Given the description of an element on the screen output the (x, y) to click on. 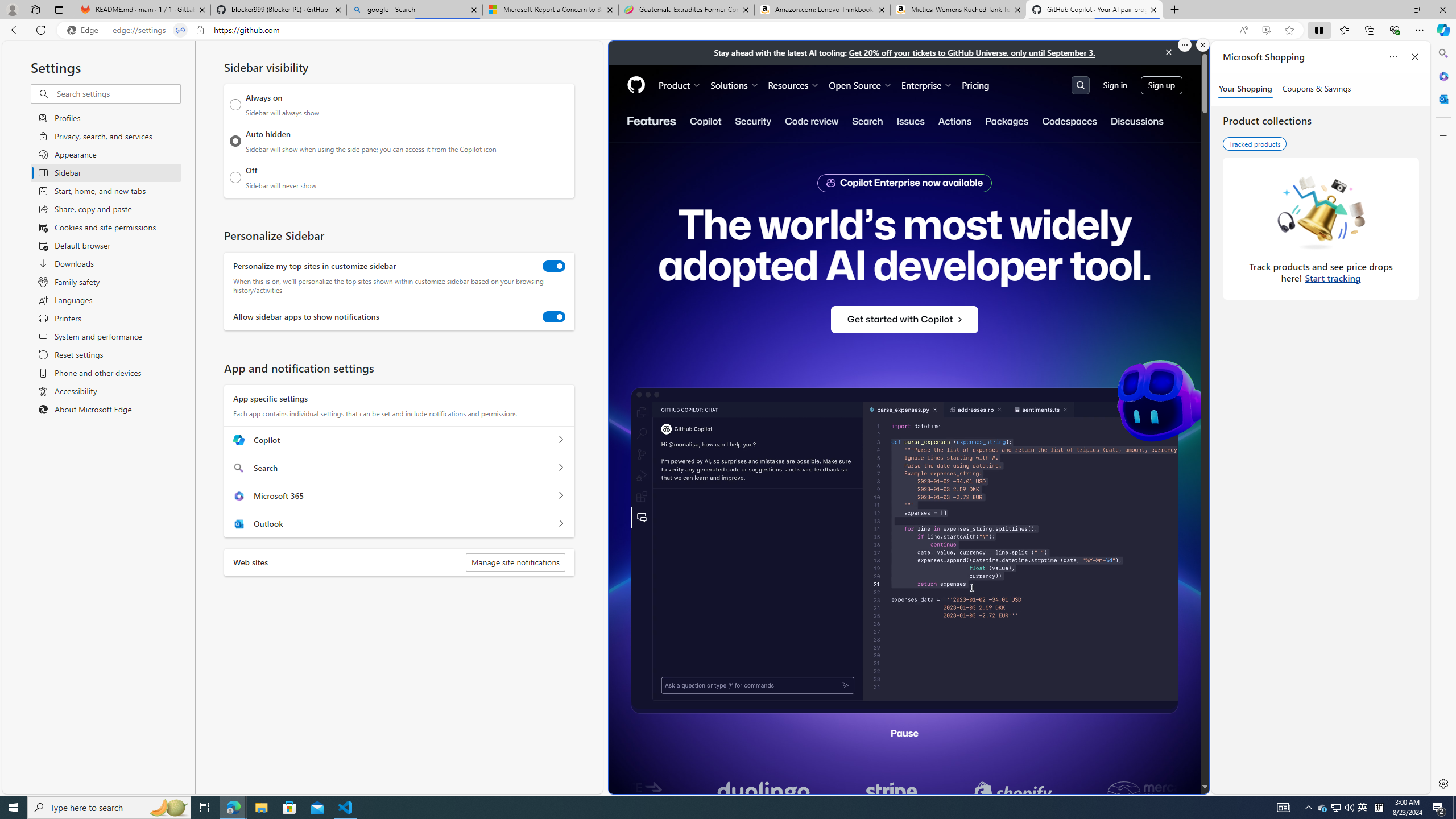
Stripe's logo (1054, 792)
Shopify's logo (1176, 793)
Discussions (1136, 120)
Enterprise (927, 84)
Sign in (1115, 84)
Close split screen. (1202, 45)
